Given the description of an element on the screen output the (x, y) to click on. 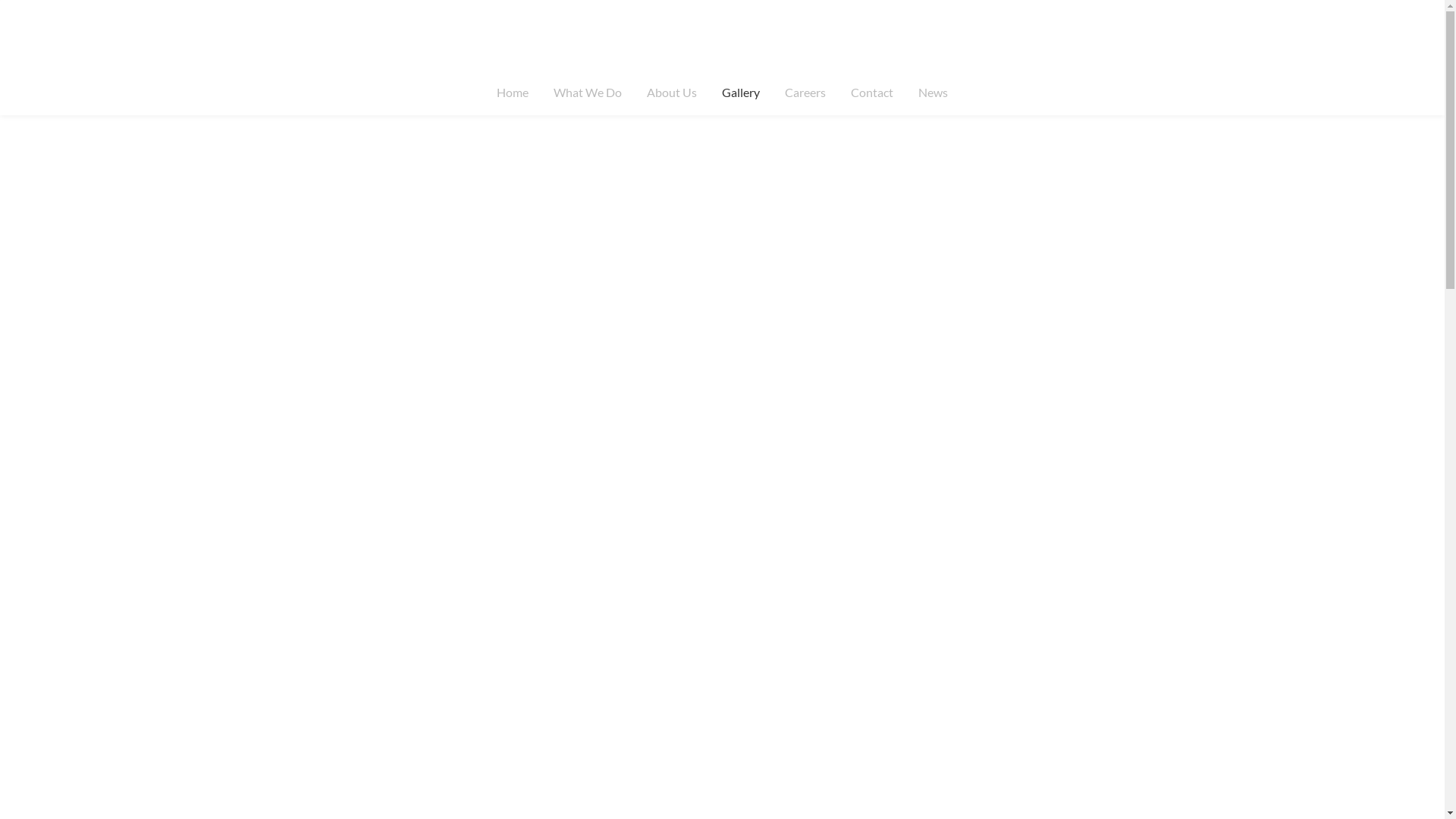
What We Do Element type: text (587, 92)
Home Element type: text (512, 92)
Gallery Element type: text (740, 92)
News Element type: text (932, 92)
About Us Element type: text (671, 92)
Contact Element type: text (871, 92)
Careers Element type: text (805, 92)
